Given the description of an element on the screen output the (x, y) to click on. 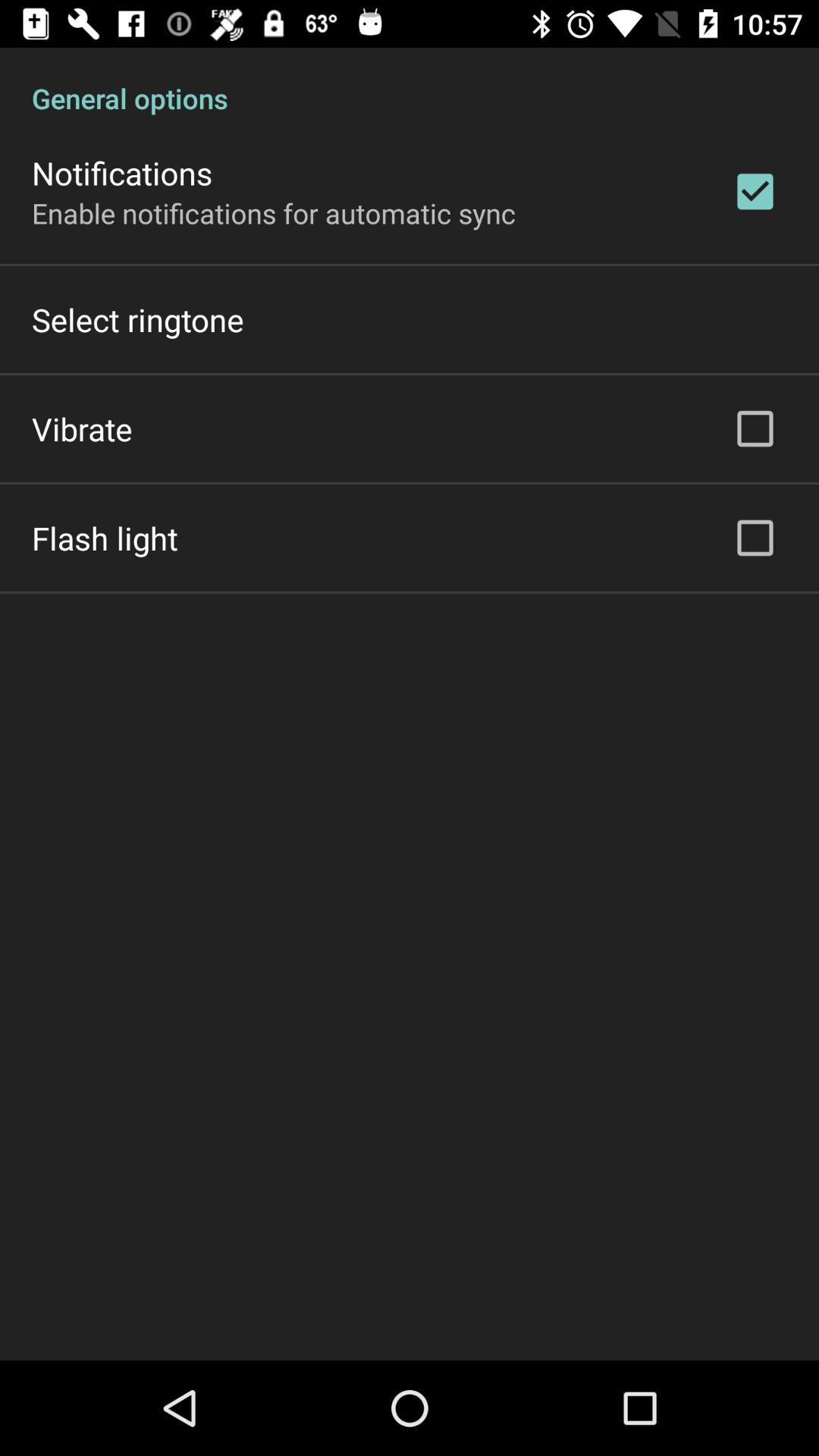
swipe to the enable notifications for item (273, 213)
